Given the description of an element on the screen output the (x, y) to click on. 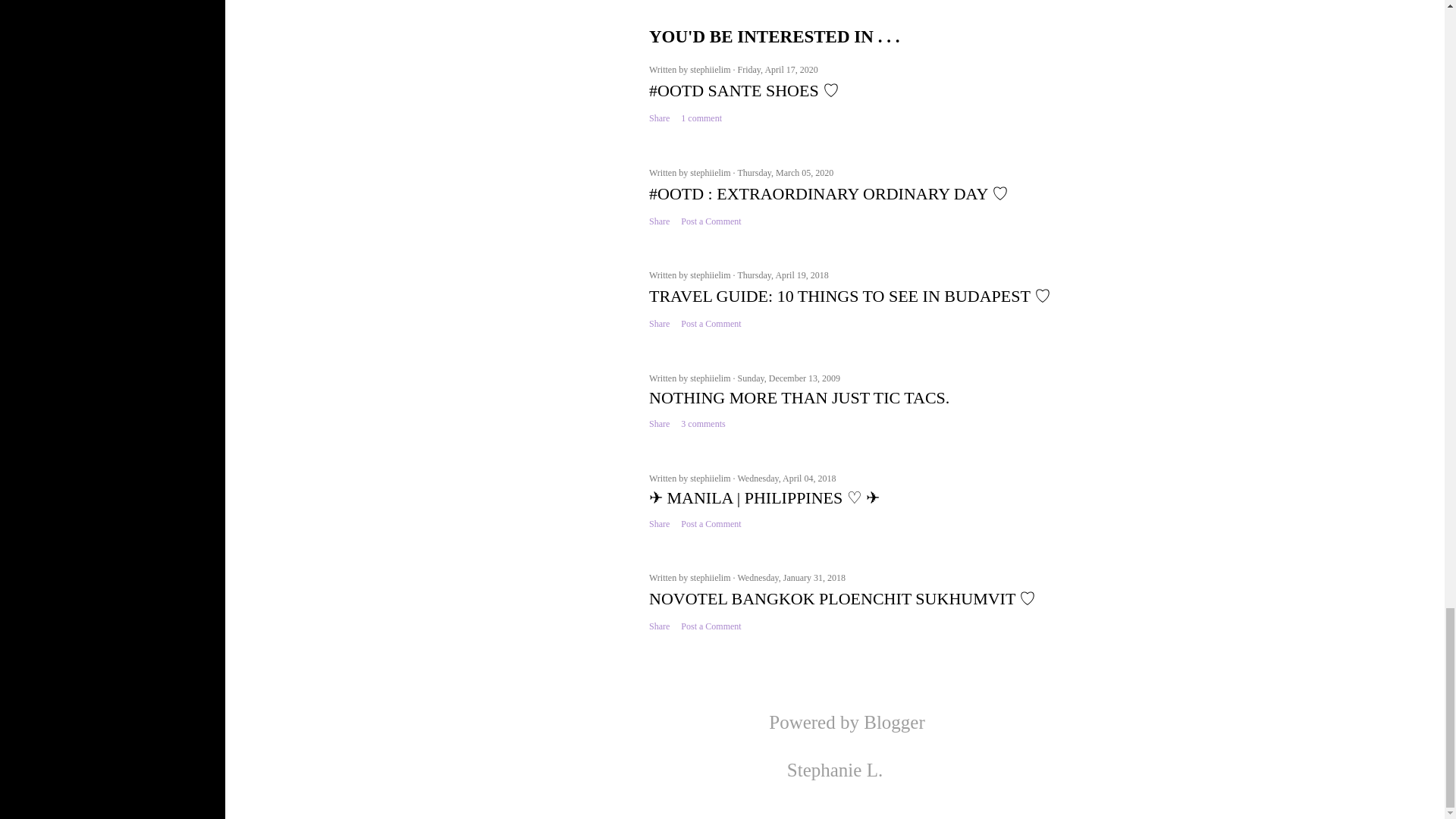
Friday, April 17, 2020 (776, 69)
1 comment (701, 118)
stephiielim (711, 172)
Thursday, March 05, 2020 (784, 172)
stephiielim (711, 69)
Share (659, 118)
